Given the description of an element on the screen output the (x, y) to click on. 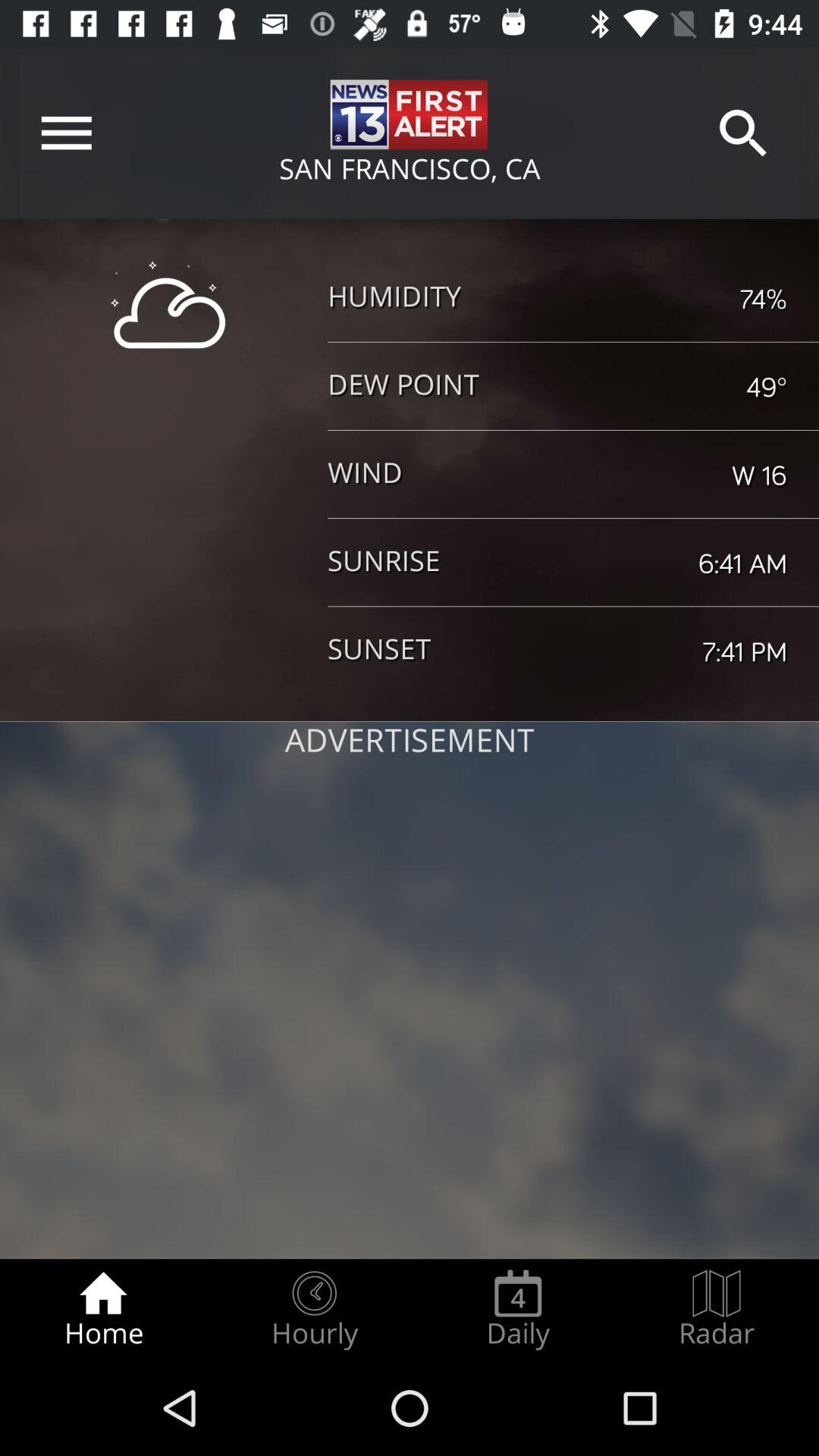
choose item to the right of the daily radio button (716, 1309)
